Given the description of an element on the screen output the (x, y) to click on. 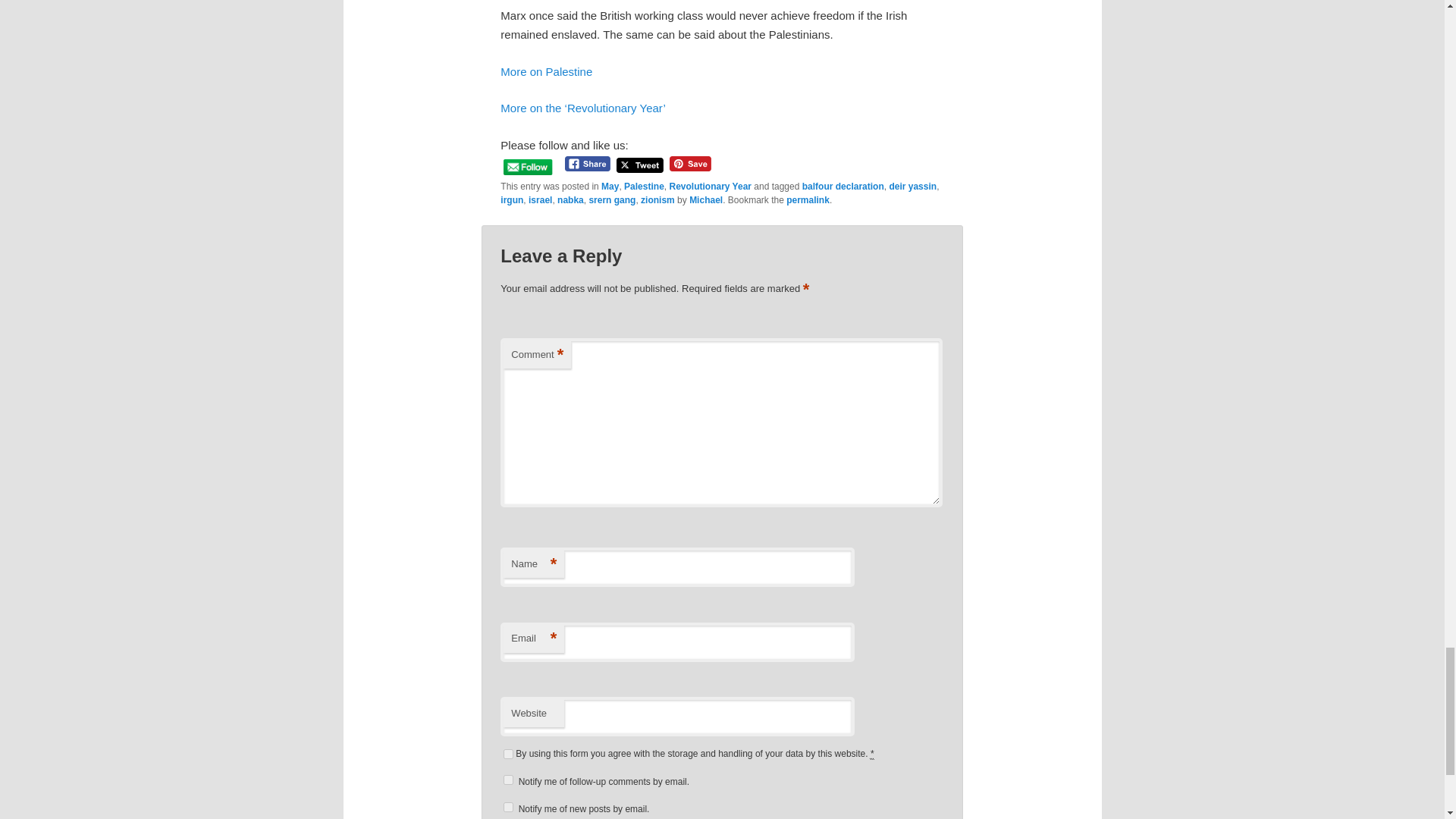
Pin Share (690, 163)
subscribe (508, 779)
Facebook Share (587, 163)
subscribe (508, 807)
Tweet (639, 165)
